Given the description of an element on the screen output the (x, y) to click on. 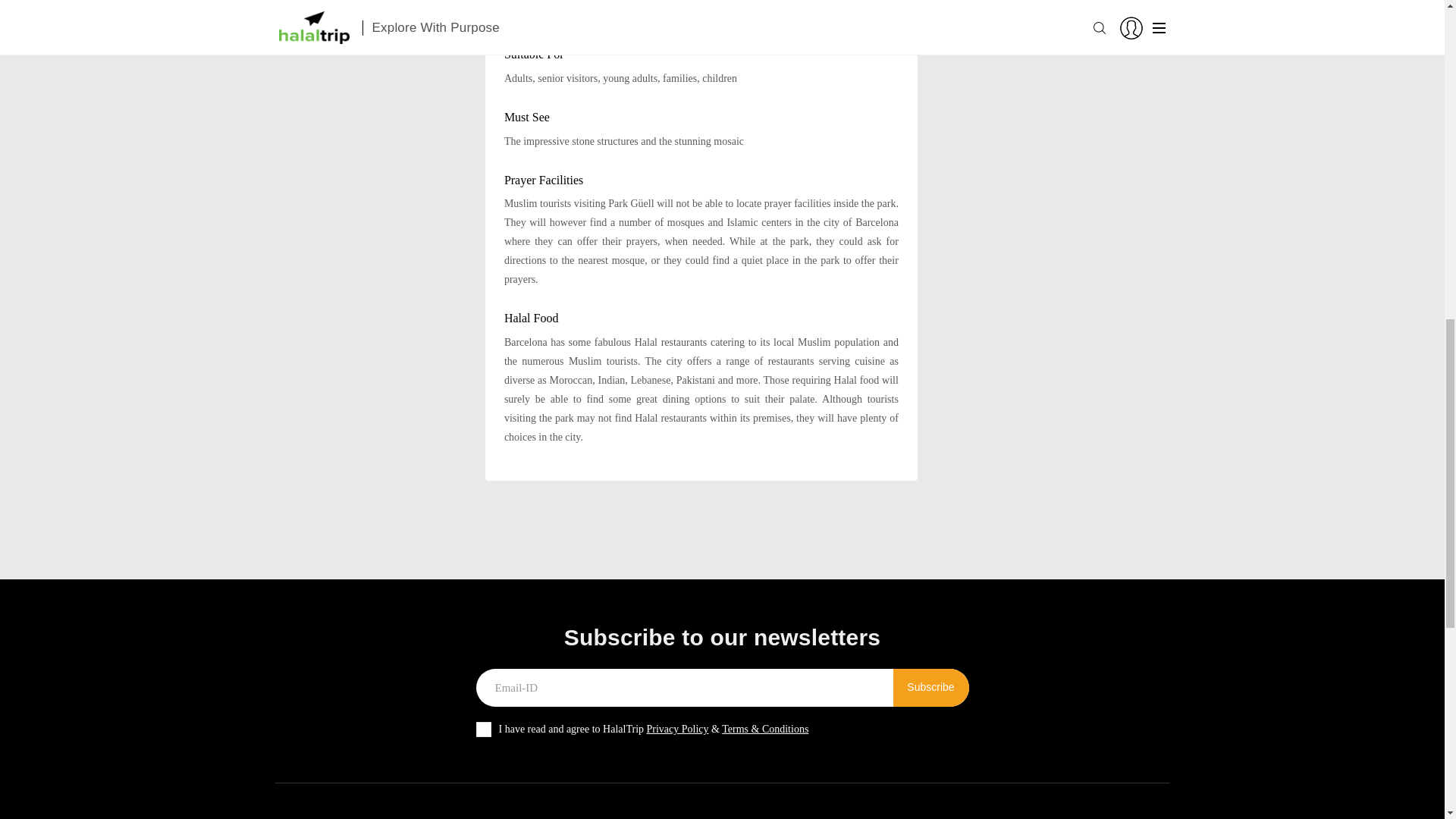
Subscribe (931, 687)
